Given the description of an element on the screen output the (x, y) to click on. 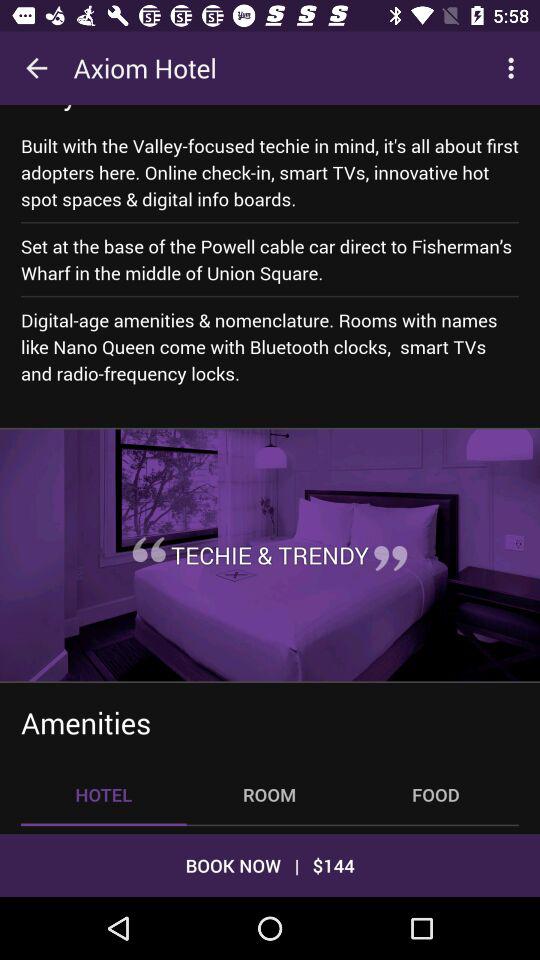
tap icon below why we like item (270, 172)
